Given the description of an element on the screen output the (x, y) to click on. 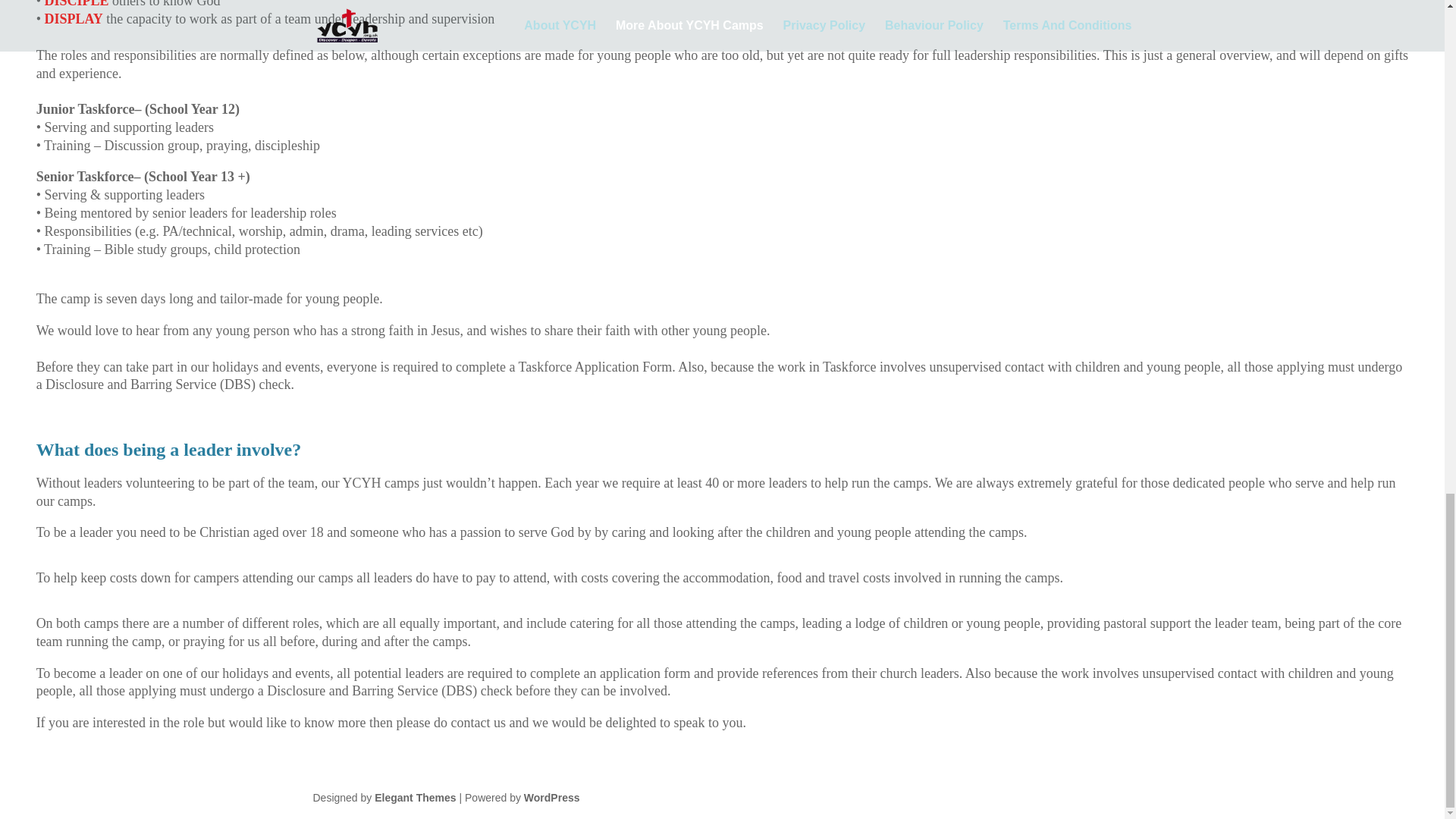
Premium WordPress Themes (414, 797)
WordPress (551, 797)
Elegant Themes (414, 797)
